Given the description of an element on the screen output the (x, y) to click on. 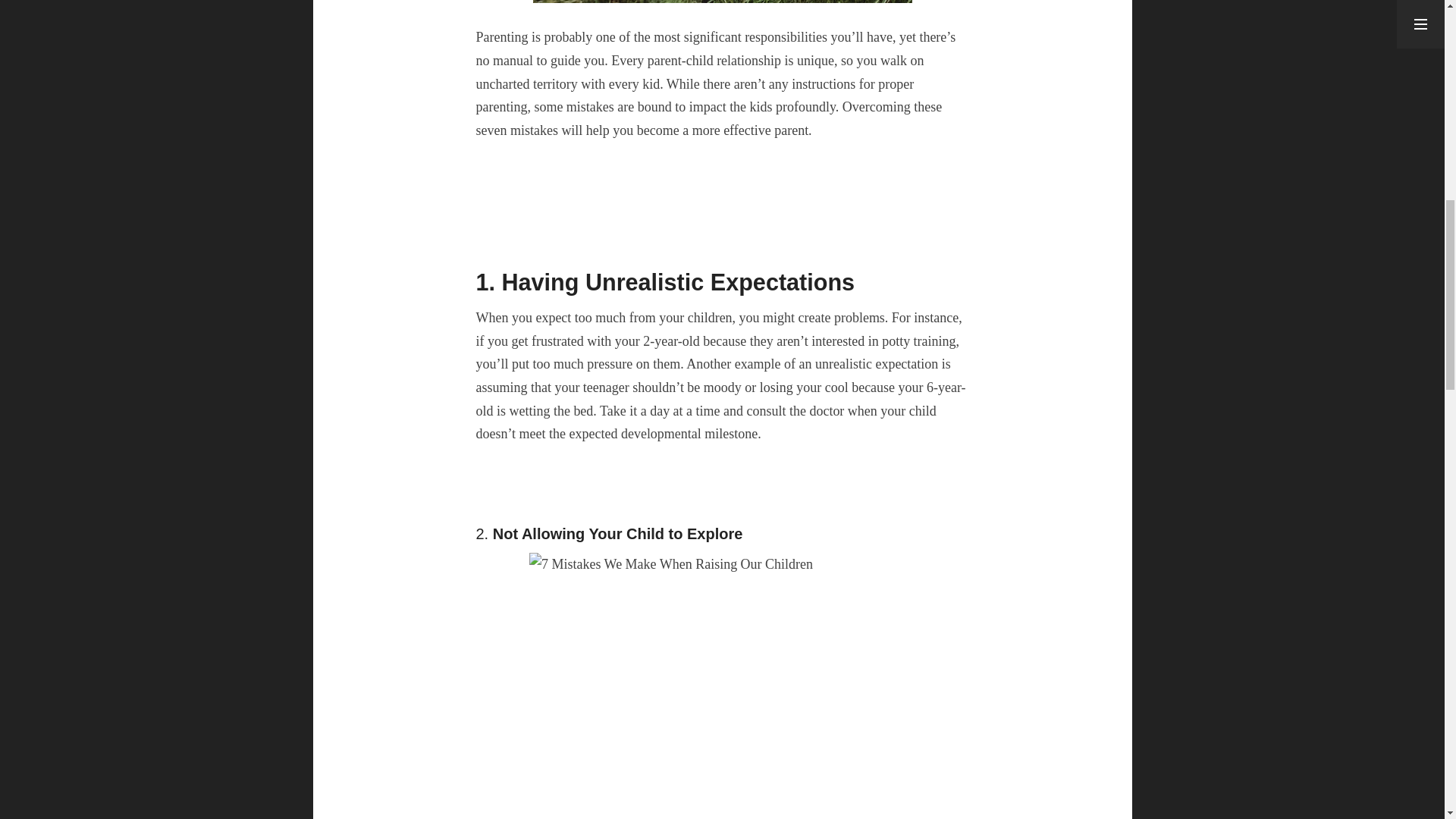
Entries feed (1218, 91)
WordPress.org (1224, 138)
Comments feed (1226, 114)
Log in (1208, 68)
